Given the description of an element on the screen output the (x, y) to click on. 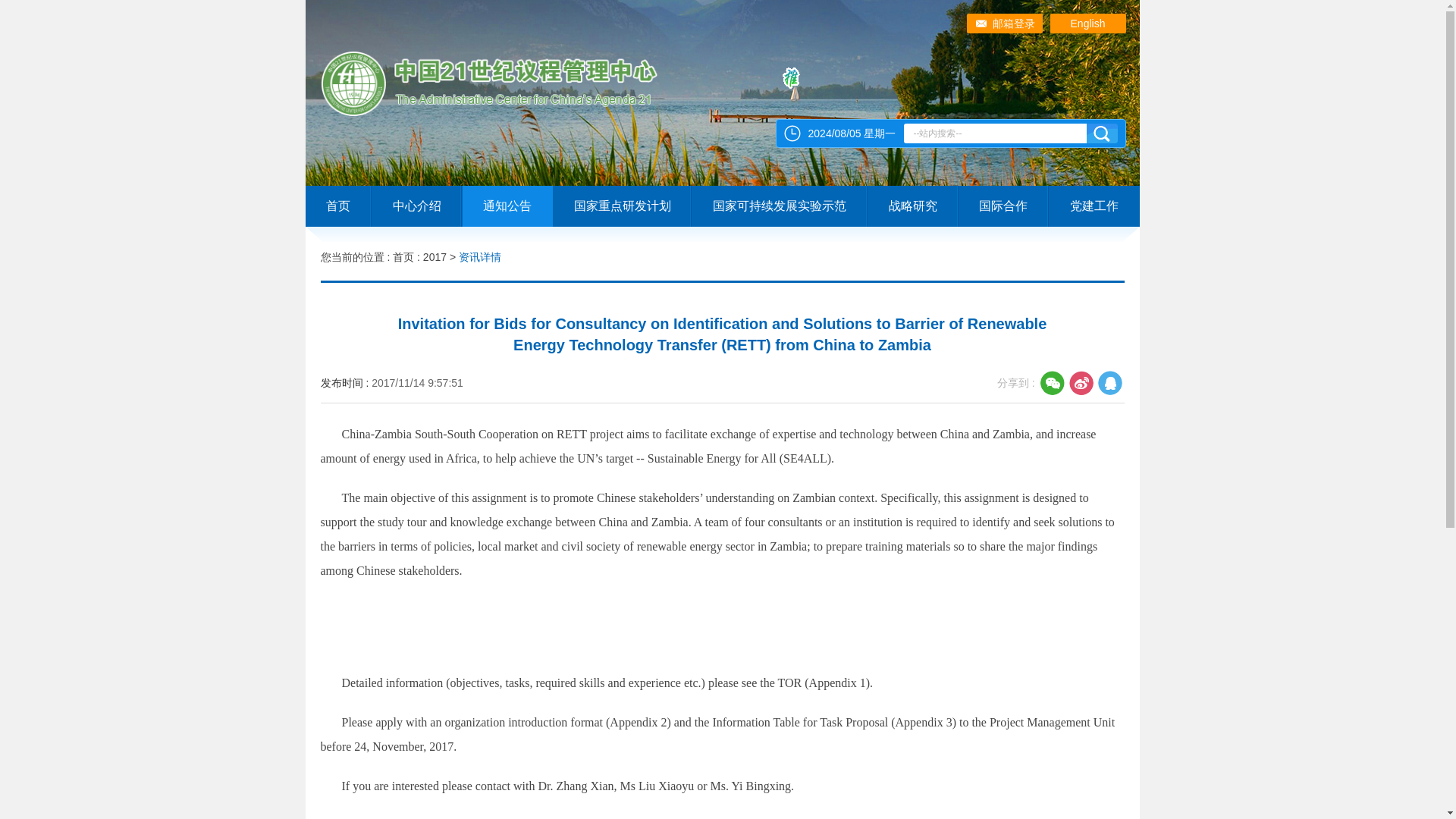
English (1087, 23)
